Given the description of an element on the screen output the (x, y) to click on. 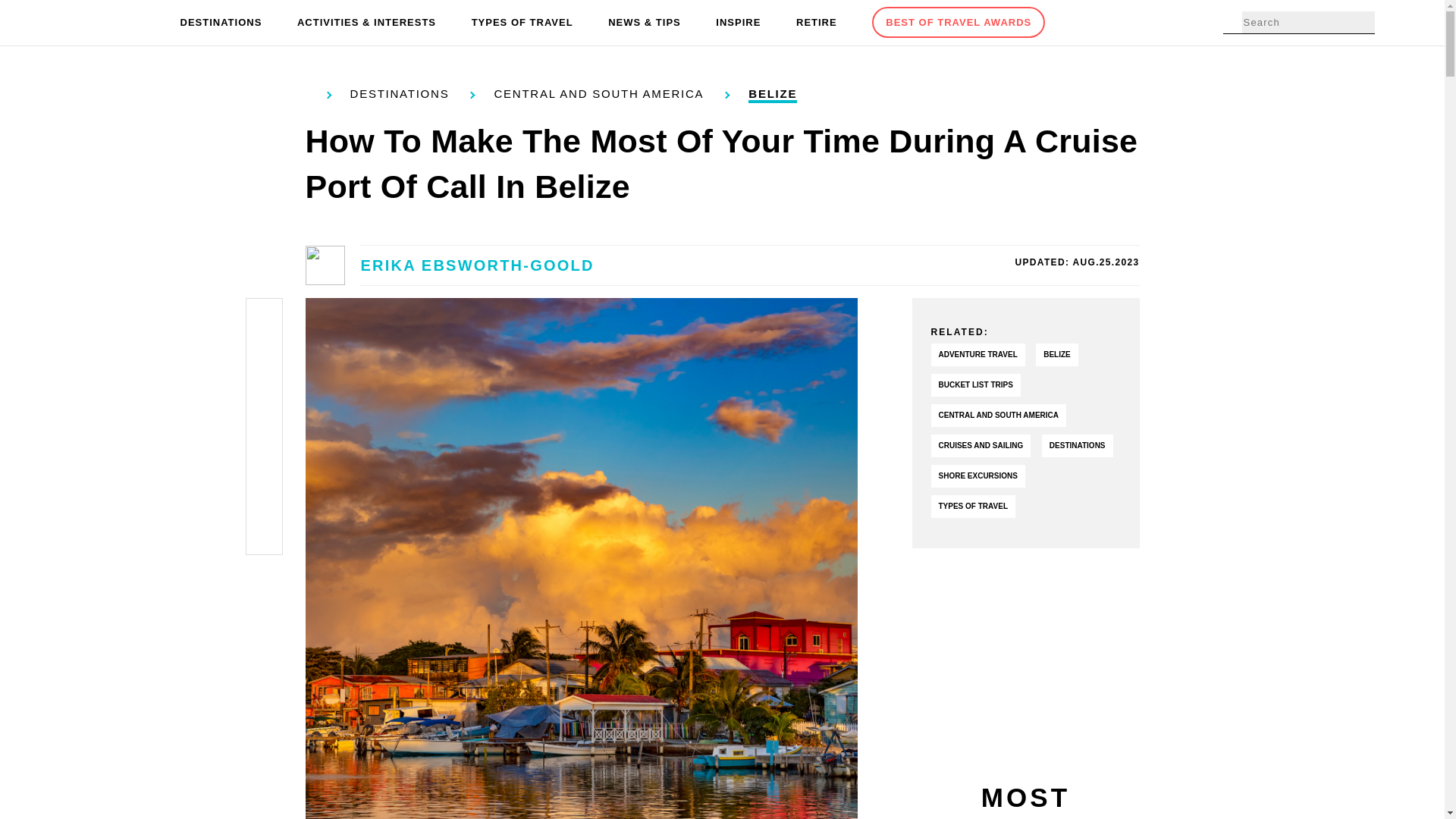
Twitter (263, 355)
Flipboard (263, 462)
Email (263, 533)
DESTINATIONS (221, 22)
Pinterest (263, 391)
TYPES OF TRAVEL (522, 22)
TravelAwaits (107, 22)
Instagram (263, 426)
Print (263, 497)
